Given the description of an element on the screen output the (x, y) to click on. 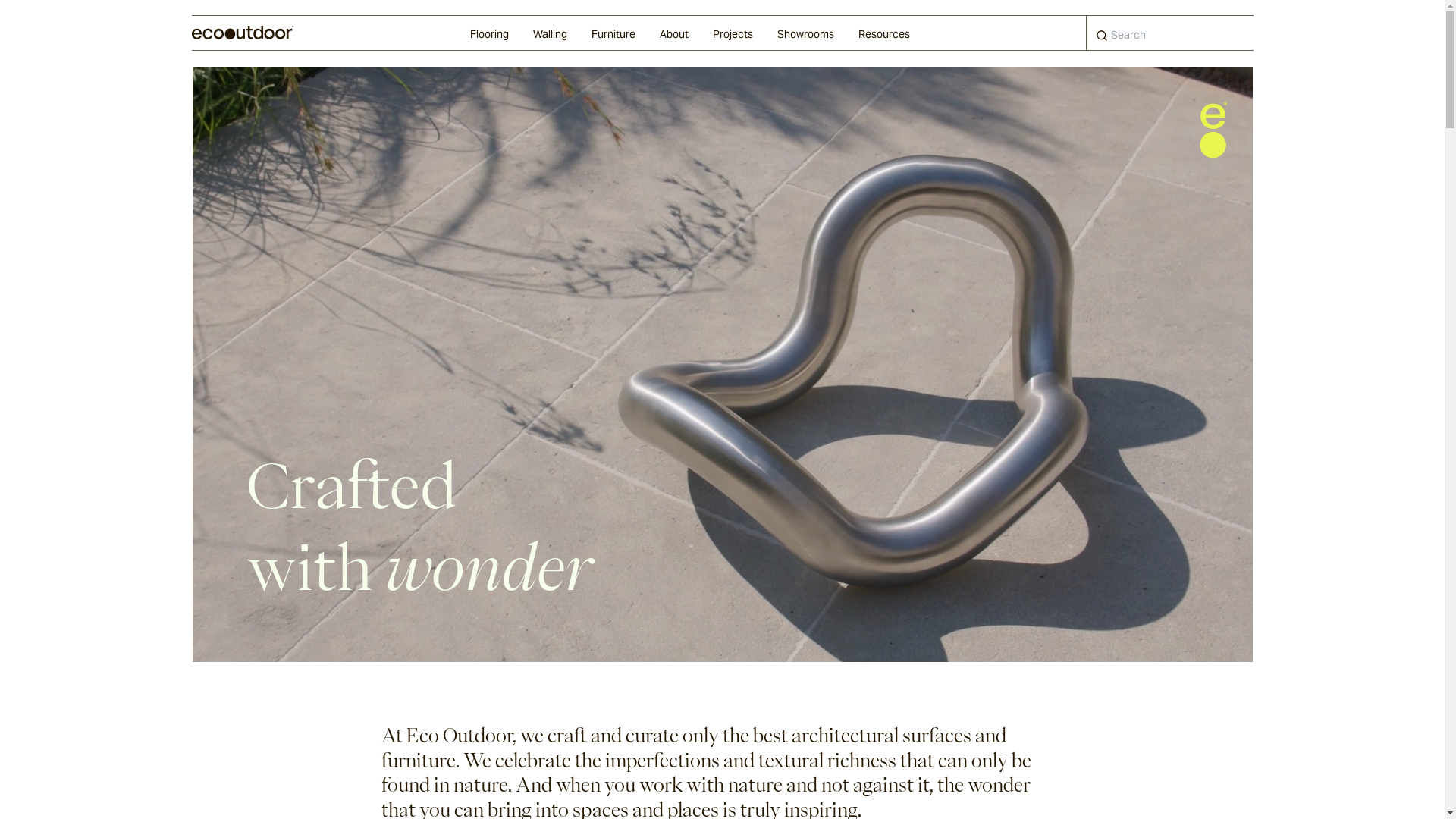
Flooring Element type: text (489, 32)
Showrooms Element type: text (804, 32)
Submit Element type: hover (1102, 36)
Walling Element type: text (549, 32)
Eco Outdoor Element type: hover (242, 32)
eco-outdoor-logo Element type: hover (1213, 129)
Resources Element type: text (884, 32)
Furniture Element type: text (613, 32)
Projects Element type: text (732, 32)
About Element type: text (673, 32)
